Given the description of an element on the screen output the (x, y) to click on. 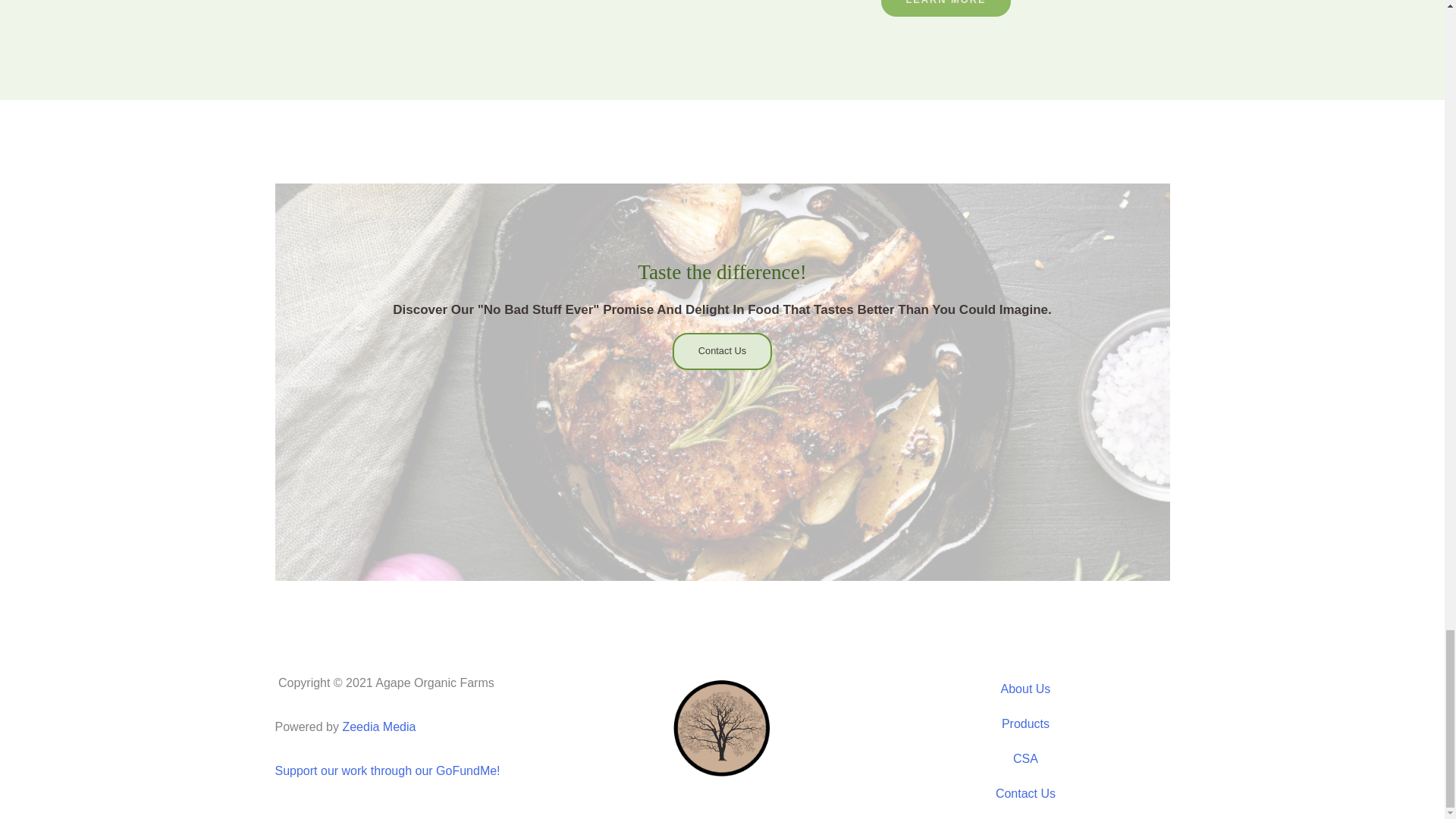
Contact Us (1024, 793)
Support our work through our GoFundMe! (387, 770)
About Us (1024, 688)
Products (1024, 724)
CSA (1024, 759)
Contact Us (721, 351)
LEARN MORE (945, 8)
Zeedia Media (378, 726)
